Given the description of an element on the screen output the (x, y) to click on. 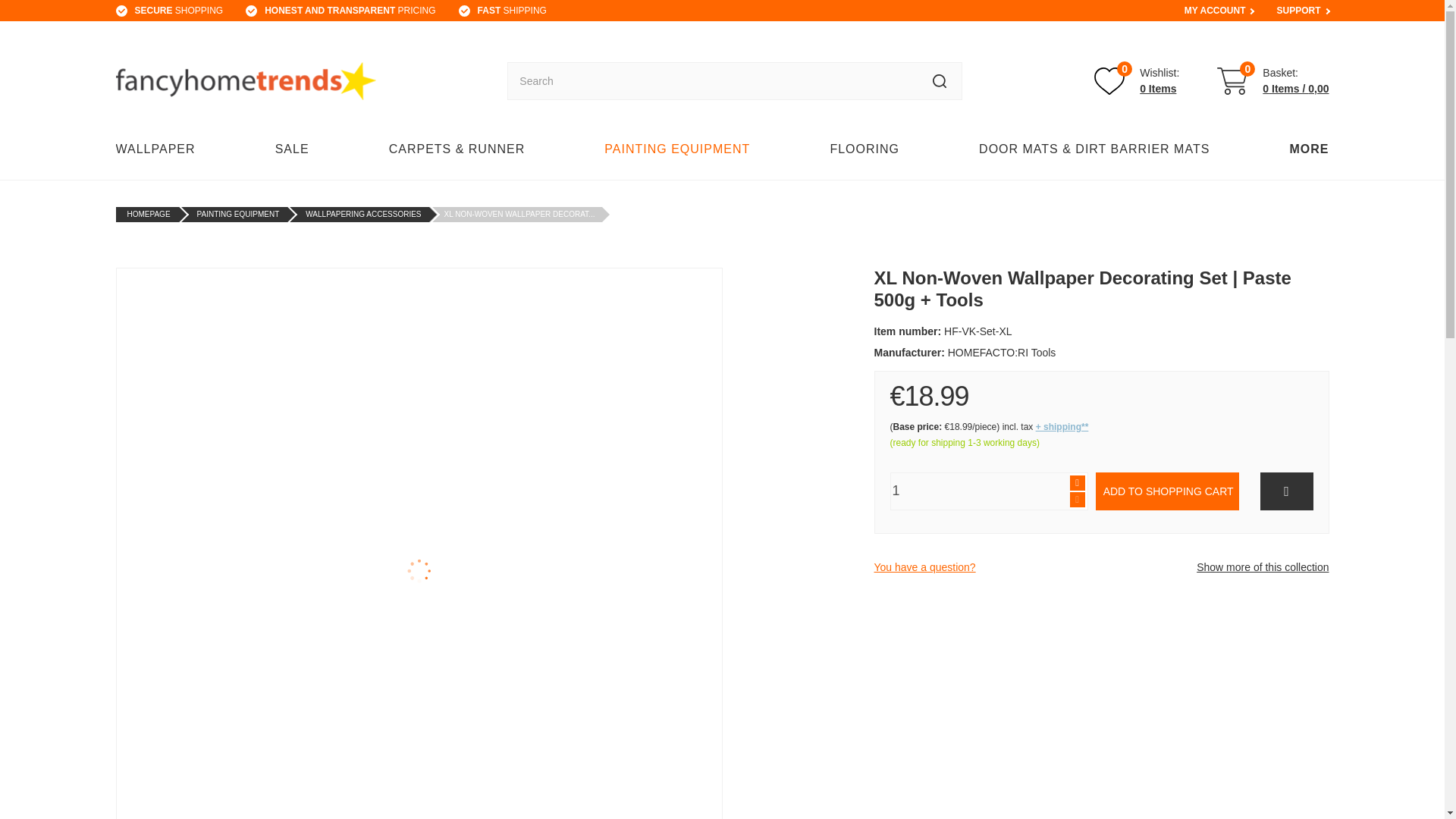
Add to wish list (1286, 491)
ADD TO SHOPPING CART (1166, 491)
MY ACCOUNT (1215, 10)
FAST SHIPPING (1136, 81)
SUPPORT (512, 10)
Maximum order quantity:  (1298, 10)
1 (1076, 482)
You have a question? (978, 491)
Show more of this collection (924, 567)
